Given the description of an element on the screen output the (x, y) to click on. 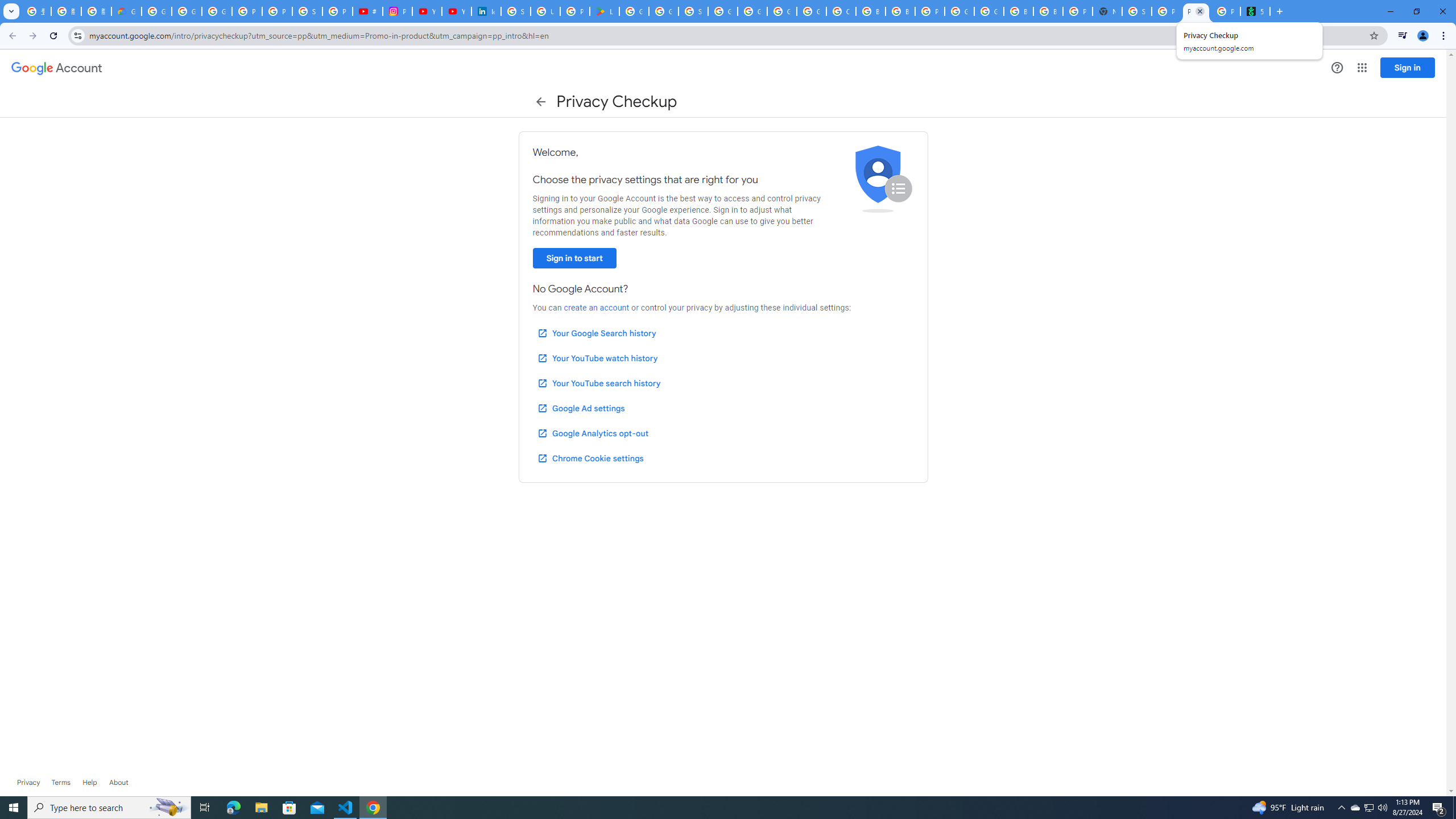
Privacy (28, 782)
Google Cloud Platform (989, 11)
Google apps (1362, 67)
Sign in - Google Accounts (515, 11)
Google Cloud Platform (959, 11)
YouTube Culture & Trends - On The Rise: Handcam Videos (426, 11)
